Given the description of an element on the screen output the (x, y) to click on. 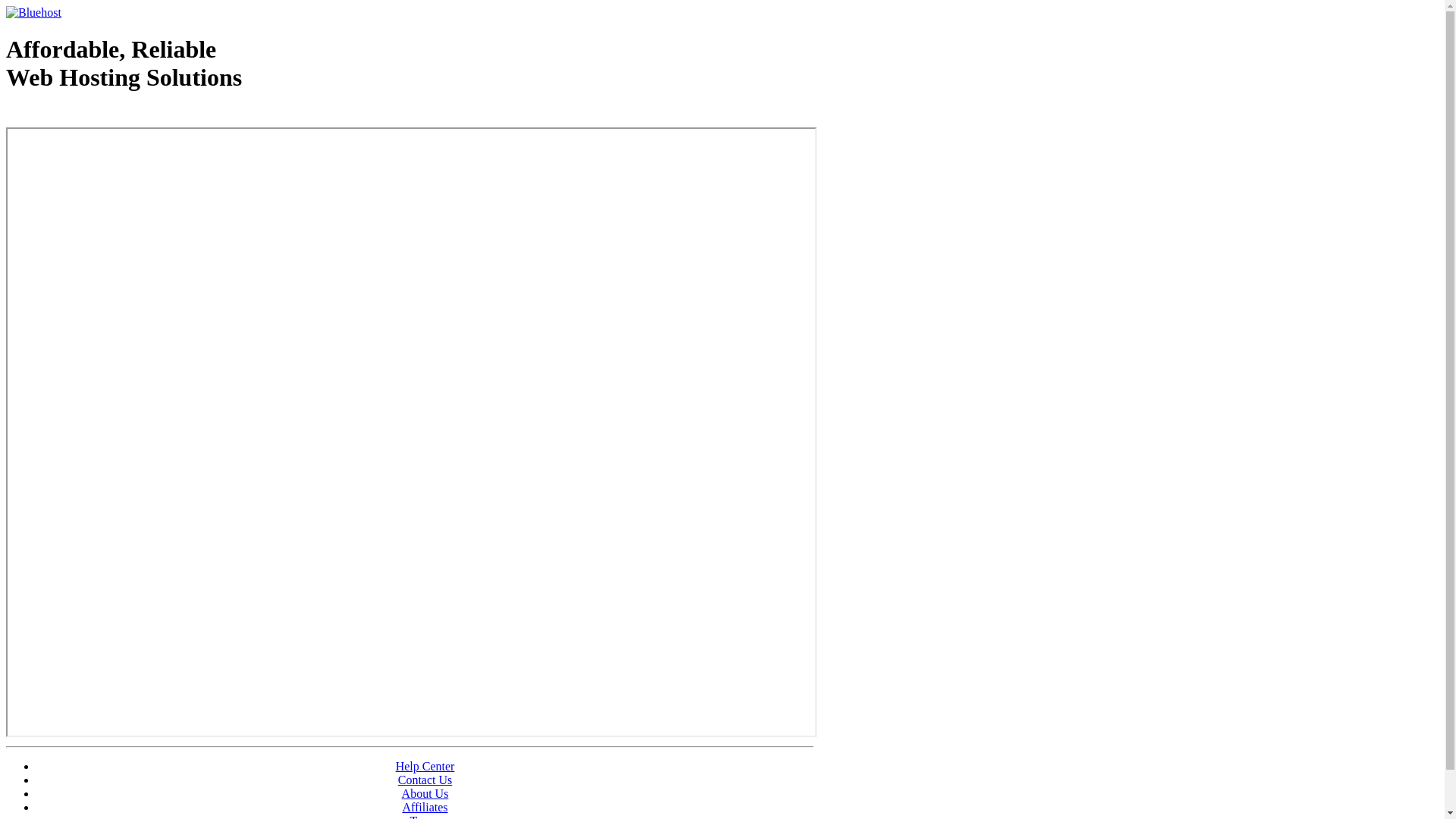
About Us Element type: text (424, 793)
Web Hosting - courtesy of www.bluehost.com Element type: text (94, 115)
Affiliates Element type: text (424, 806)
Help Center Element type: text (425, 765)
Contact Us Element type: text (425, 779)
